Given the description of an element on the screen output the (x, y) to click on. 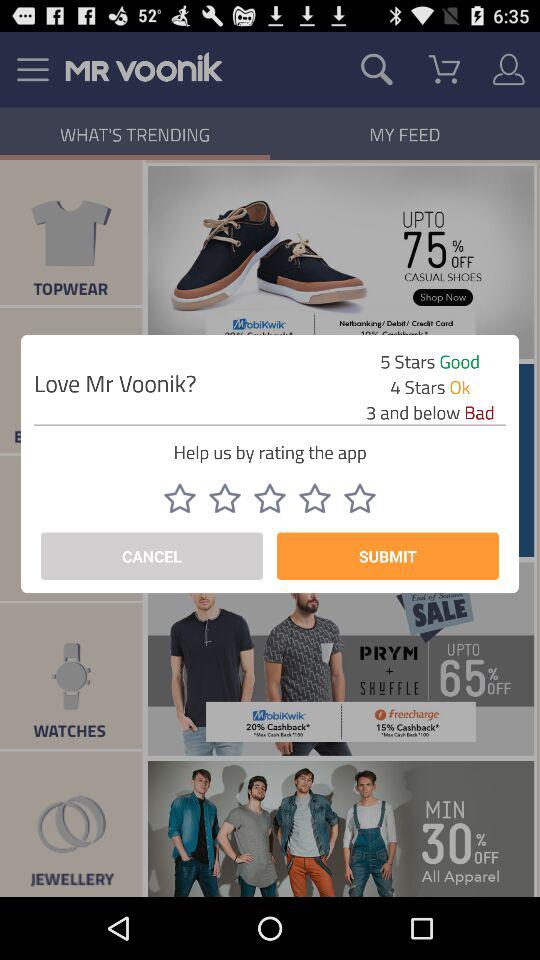
click icon above cancel button (269, 498)
